Given the description of an element on the screen output the (x, y) to click on. 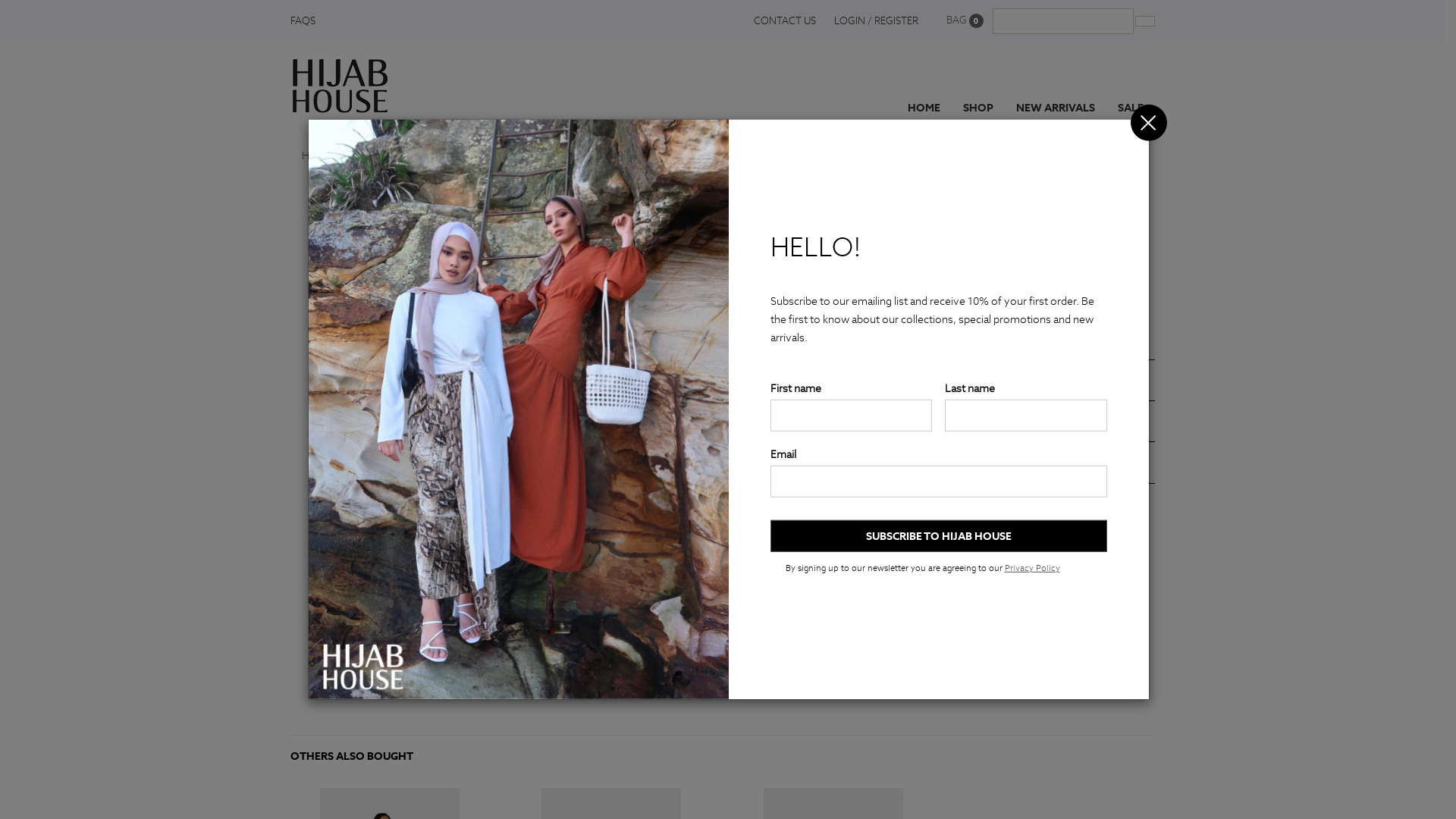
HOME Element type: text (923, 84)
SHIPPING CALCULATOR Element type: text (906, 376)
SPECIFICATIONS Element type: text (906, 417)
SHARE Element type: text (906, 499)
FAQS Element type: text (306, 21)
Privacy Policy Element type: text (1031, 567)
REVIEWS Element type: text (906, 458)
CONTACT US Element type: text (784, 21)
SALE Element type: text (1129, 84)
BAG 0 Element type: text (964, 21)
Search Element type: text (1144, 20)
Hijab House Online pty ltd Element type: hover (339, 81)
Size Guide Element type: text (734, 257)
WISHLIST Element type: text (735, 323)
$100 Best Friend Gift Voucher Element type: text (508, 155)
ADD TO BAG Element type: text (735, 289)
Gift Vouchers Element type: text (385, 155)
SHOP Element type: text (977, 84)
Home Element type: text (316, 155)
LOGIN / REGISTER Element type: text (876, 21)
NEW ARRIVALS Element type: text (1054, 84)
